Given the description of an element on the screen output the (x, y) to click on. 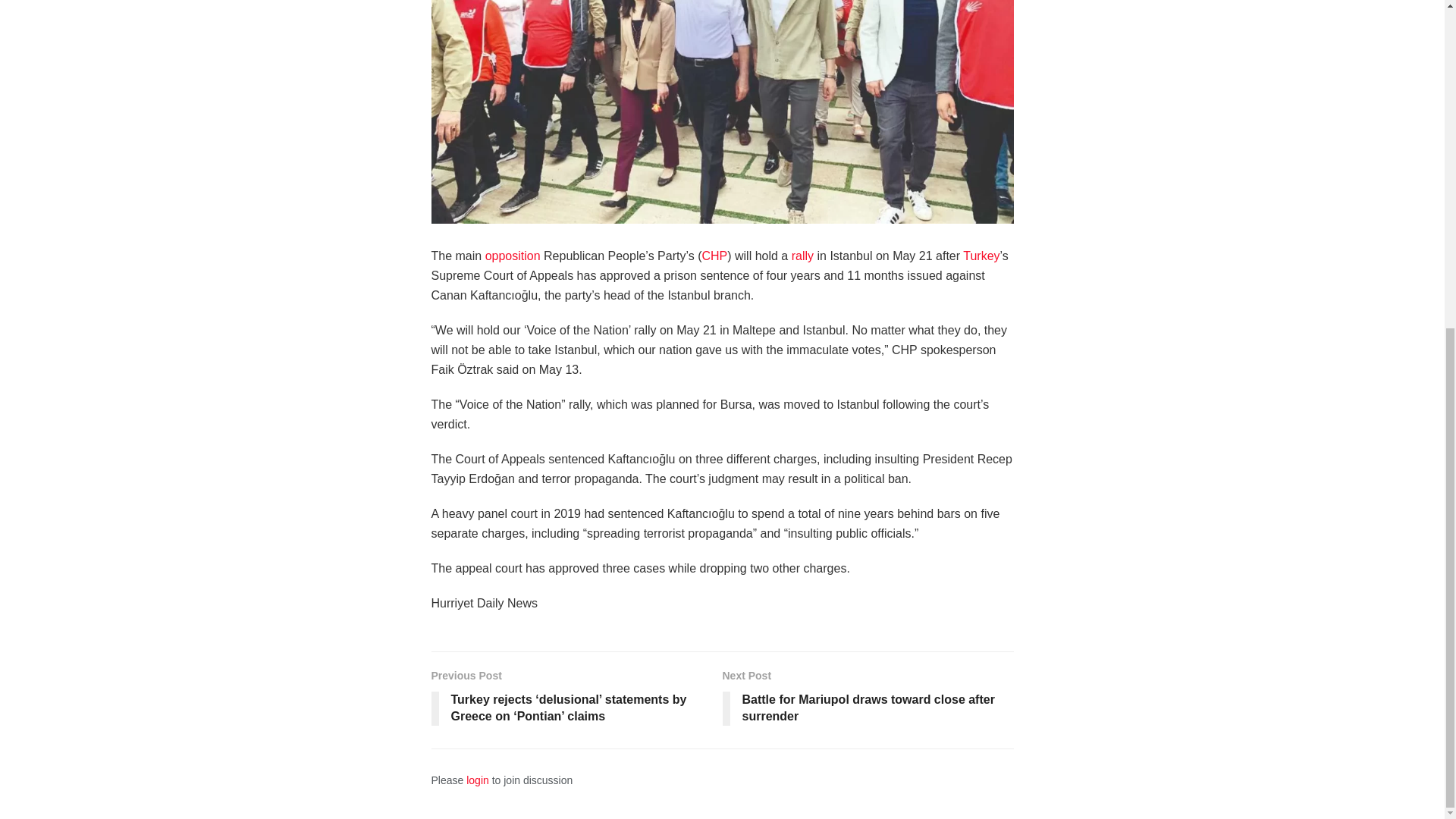
Turkey (980, 255)
opposition (512, 255)
chp (713, 255)
rally (802, 255)
